Given the description of an element on the screen output the (x, y) to click on. 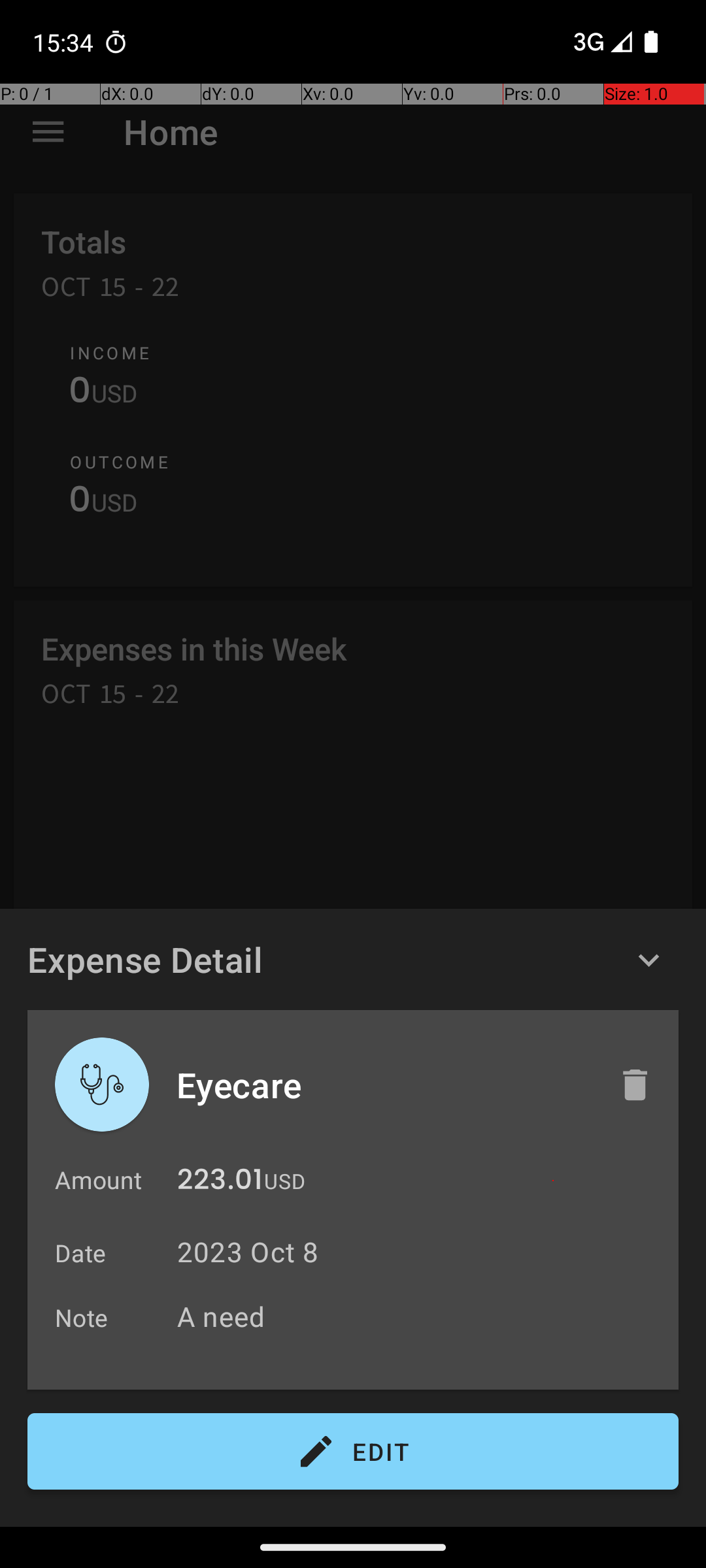
223.01 Element type: android.widget.TextView (219, 1182)
